Given the description of an element on the screen output the (x, y) to click on. 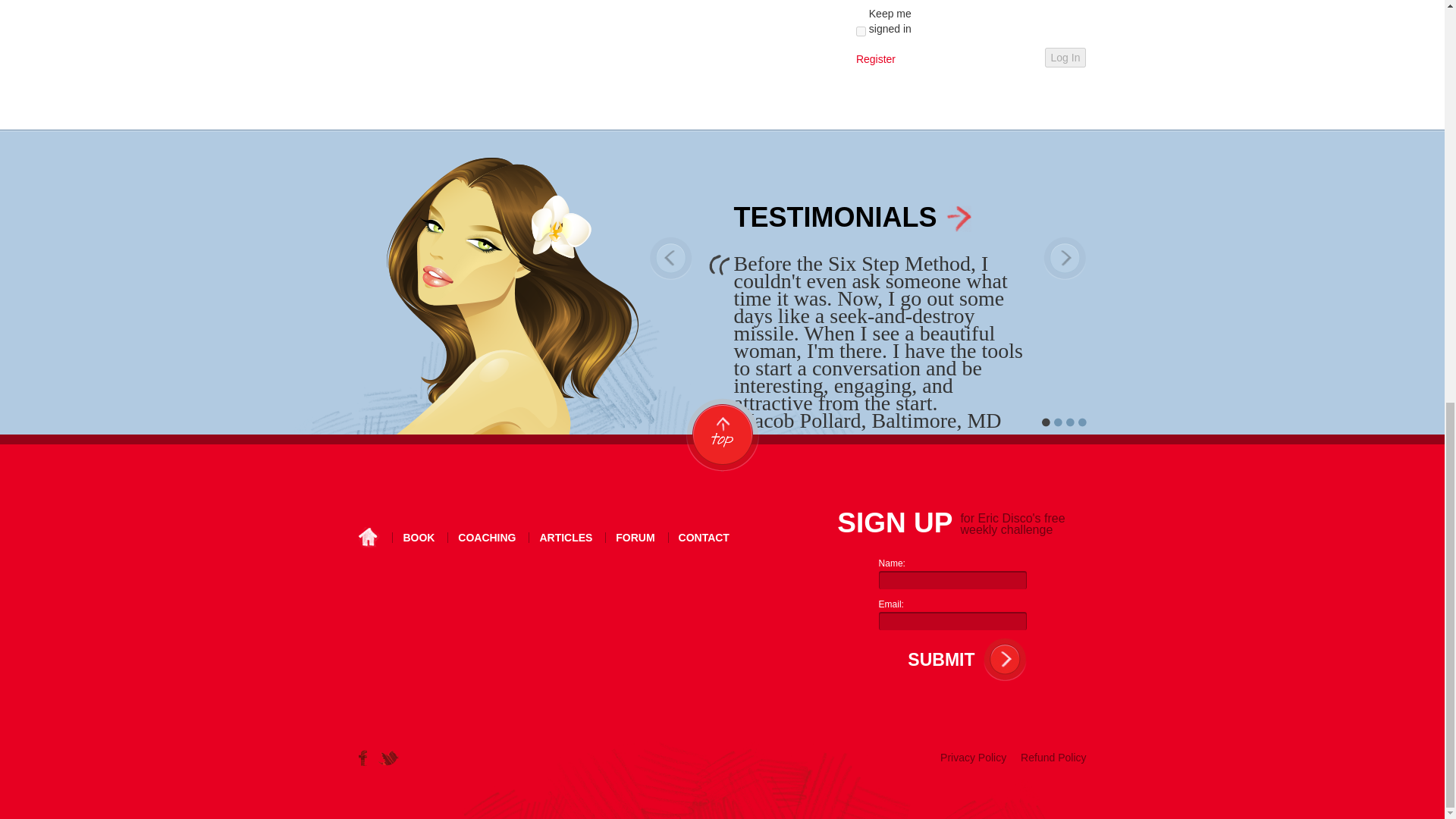
Register (875, 58)
forever (861, 31)
Submit (936, 659)
FORUM (634, 537)
BOOK (418, 537)
Register (875, 58)
Submit (936, 659)
ARTICLES (565, 537)
Log In (1065, 57)
CONTACT (703, 537)
